Given the description of an element on the screen output the (x, y) to click on. 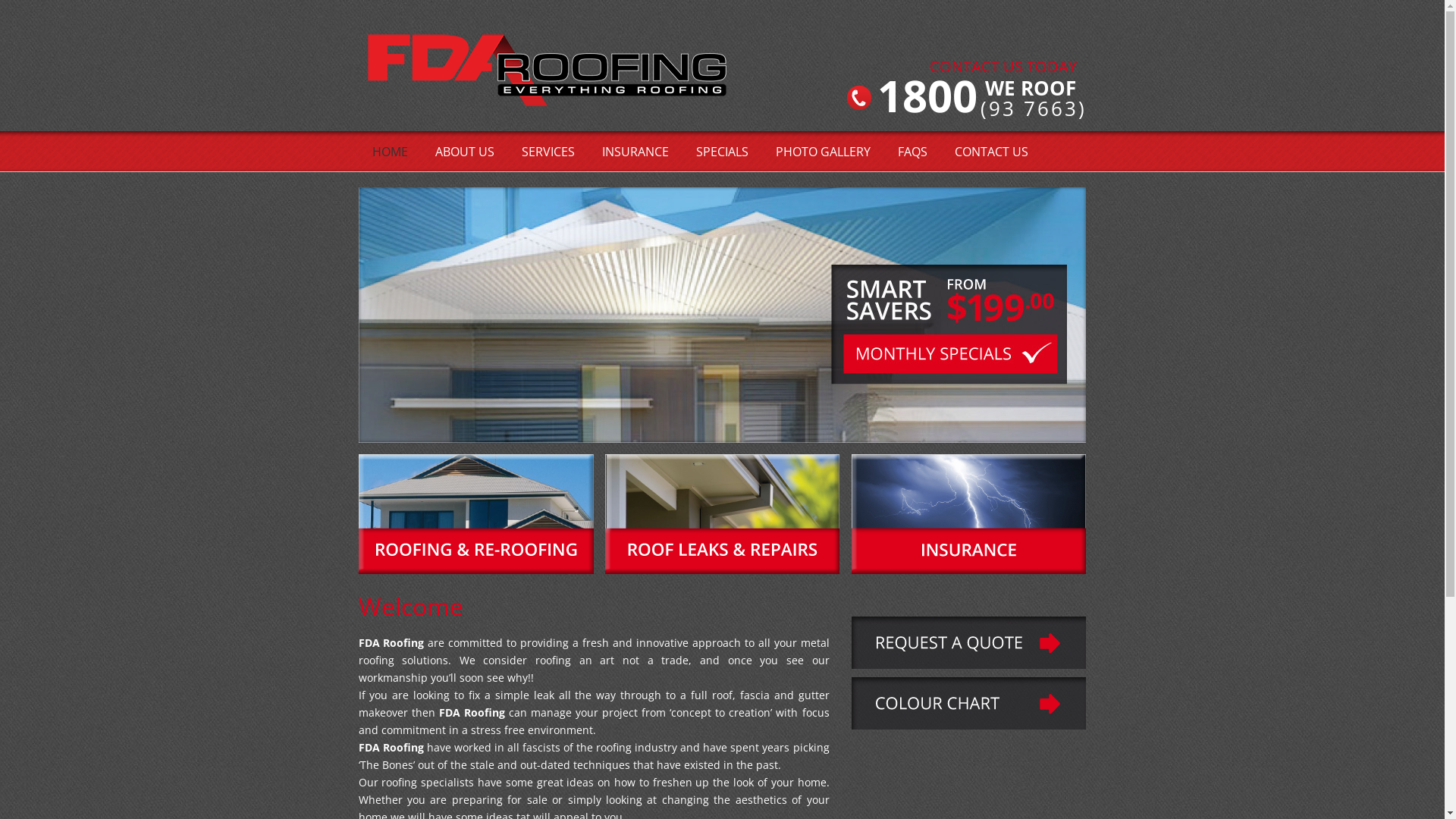
ABOUT US Element type: text (464, 151)
CONTACT US Element type: text (990, 151)
HOME Element type: text (388, 151)
PHOTO GALLERY Element type: text (822, 151)
SERVICES Element type: text (548, 151)
INSURANCE Element type: text (635, 151)
SPECIALS Element type: text (722, 151)
FDA Roofing Element type: text (547, 78)
FAQS Element type: text (912, 151)
